Given the description of an element on the screen output the (x, y) to click on. 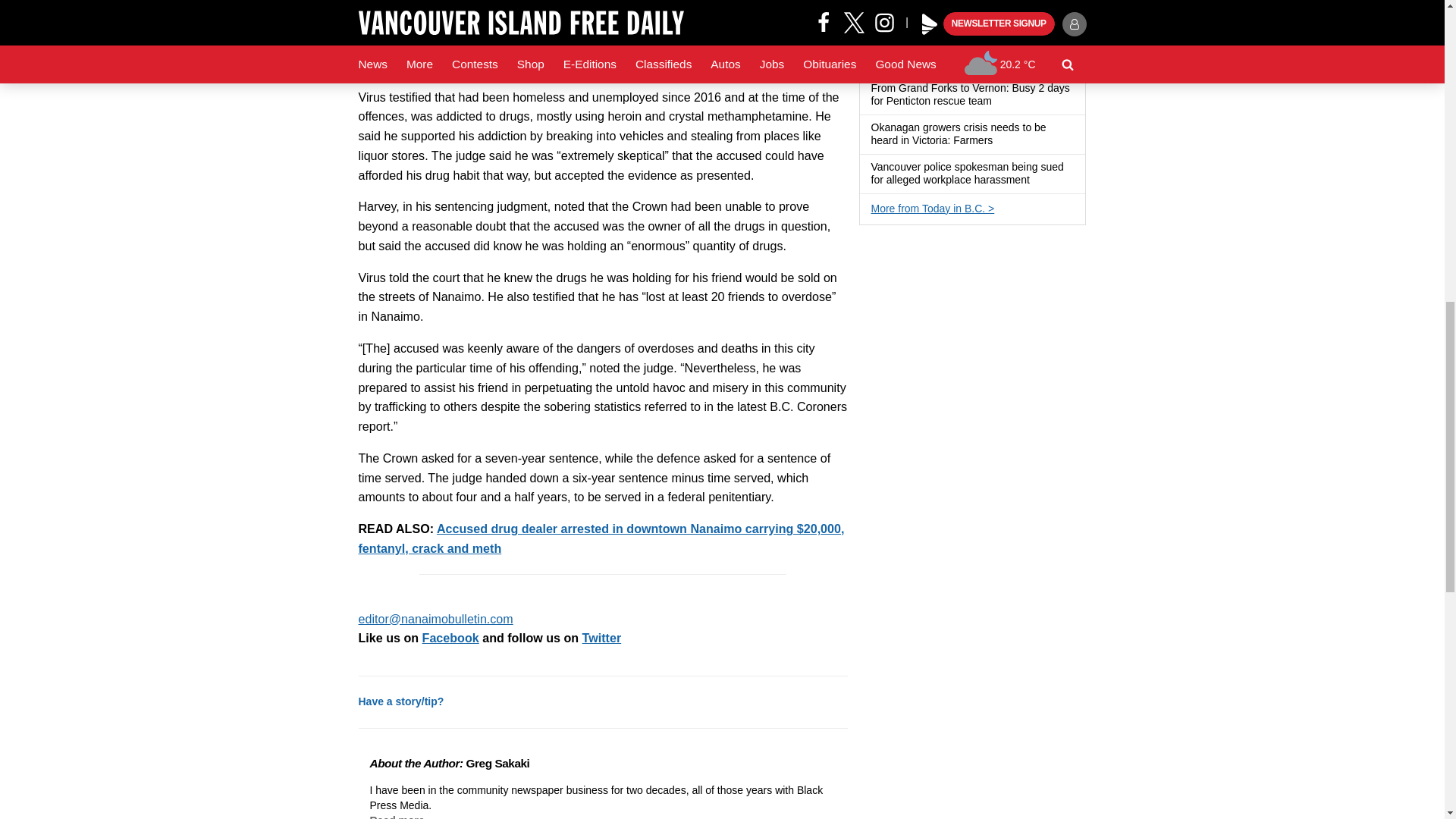
Has a gallery (1001, 141)
